Given the description of an element on the screen output the (x, y) to click on. 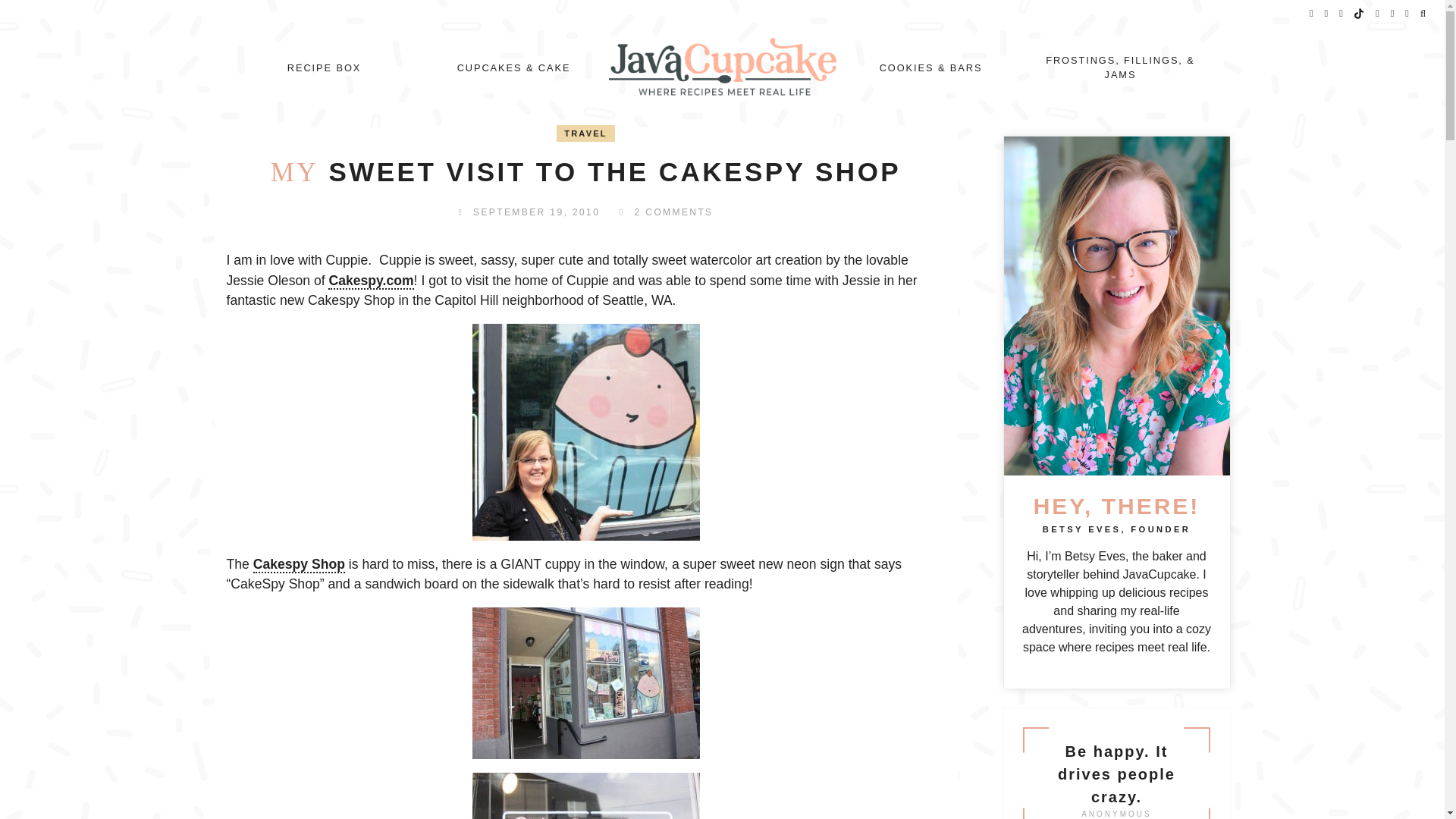
2 COMMENTS (673, 212)
SEPTEMBER 19, 2010 (536, 212)
Cakespy Shop (299, 564)
RECIPE BOX (323, 67)
tiktok icon (1359, 13)
TRAVEL (585, 133)
Cakespy.com (371, 280)
